Given the description of an element on the screen output the (x, y) to click on. 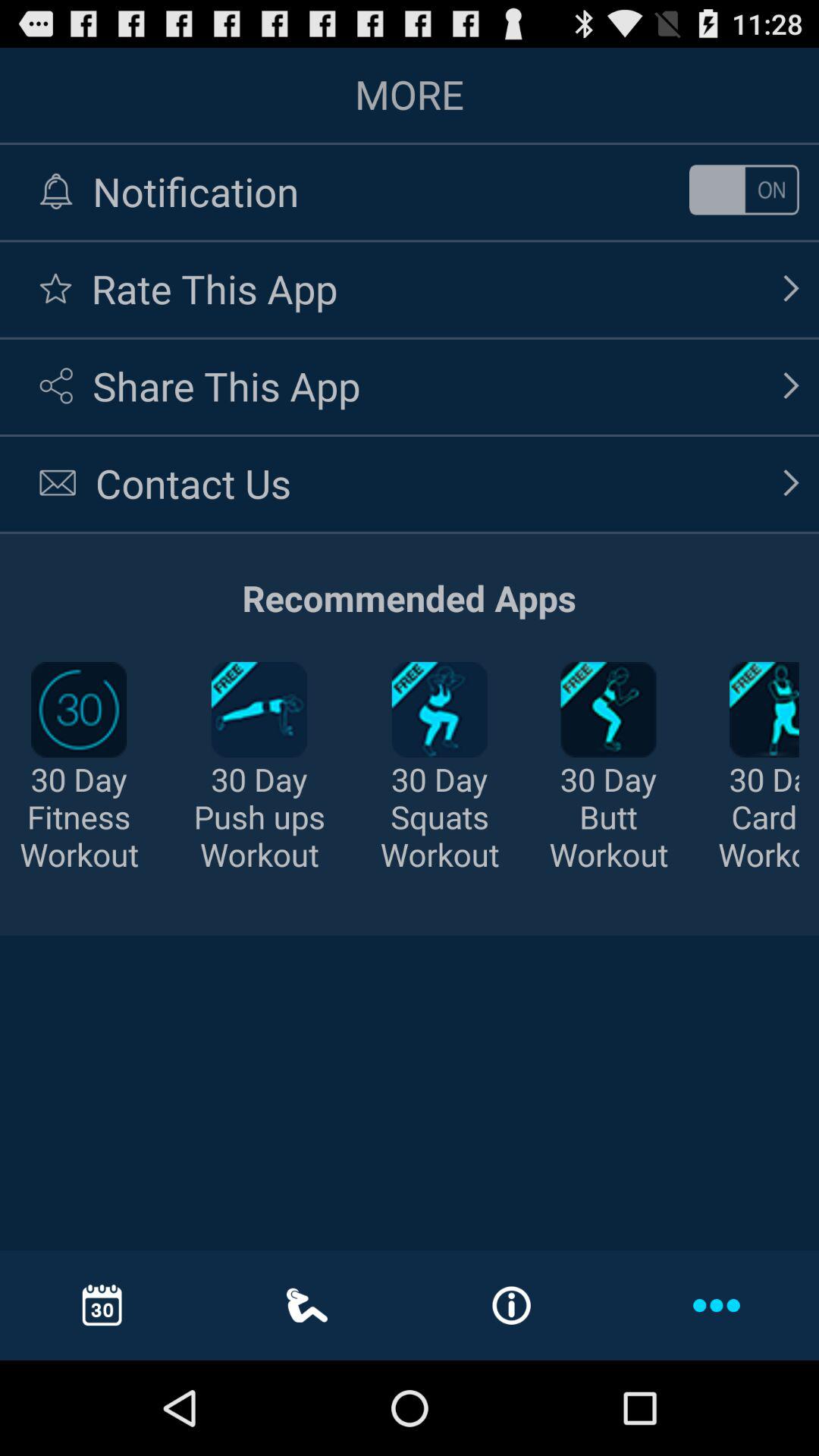
on off button (744, 189)
